Given the description of an element on the screen output the (x, y) to click on. 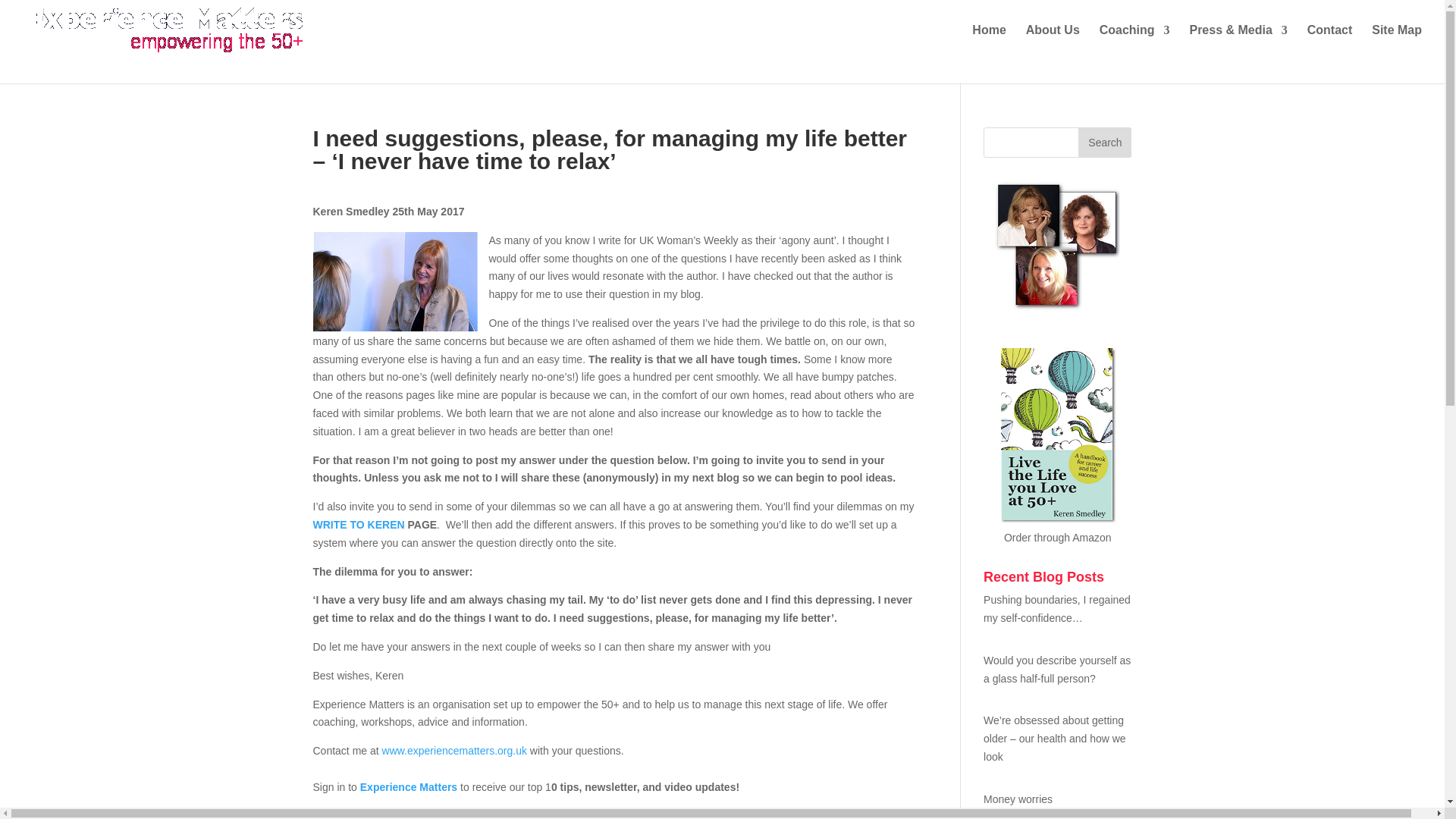
Coaching (1134, 42)
Search (1104, 142)
Contact (1329, 42)
Would you describe yourself as a glass half-full person? (1057, 669)
Money worries (1057, 800)
About Us (1053, 42)
Order through Amazon (1058, 537)
www.experiencematters.org.uk (454, 750)
Experience Matters (408, 787)
Search (1104, 142)
WRITE TO KEREN (360, 524)
Home (989, 42)
talk to one of our life coaches (695, 814)
Site Map (1396, 42)
